Given the description of an element on the screen output the (x, y) to click on. 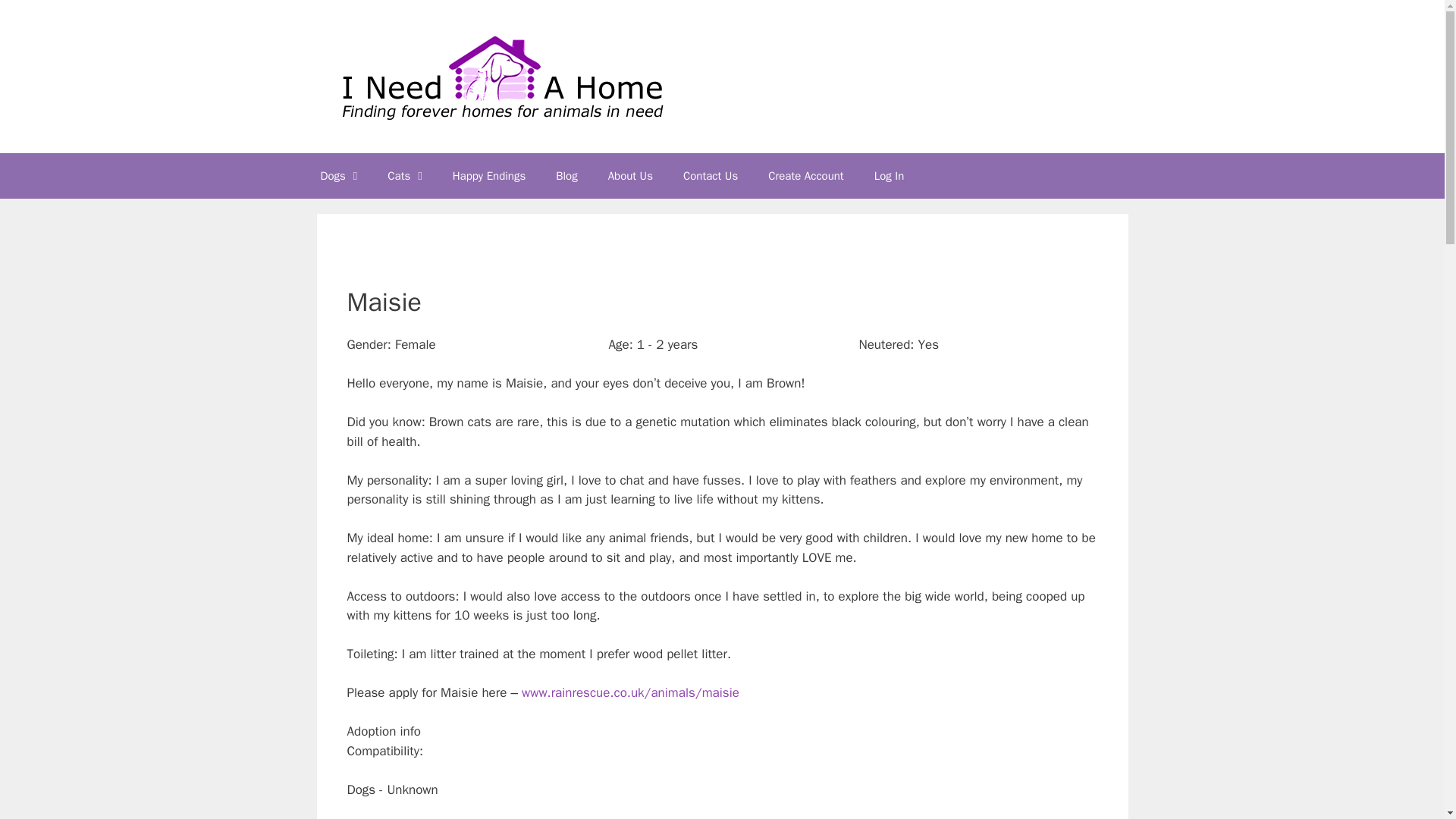
Log In (889, 176)
I Need a Home (500, 75)
I Need a Home (500, 76)
Blog (566, 176)
Happy Endings (489, 176)
Create Account (805, 176)
Dogs (338, 176)
About Us (630, 176)
Cats (404, 176)
Contact Us (710, 176)
